Given the description of an element on the screen output the (x, y) to click on. 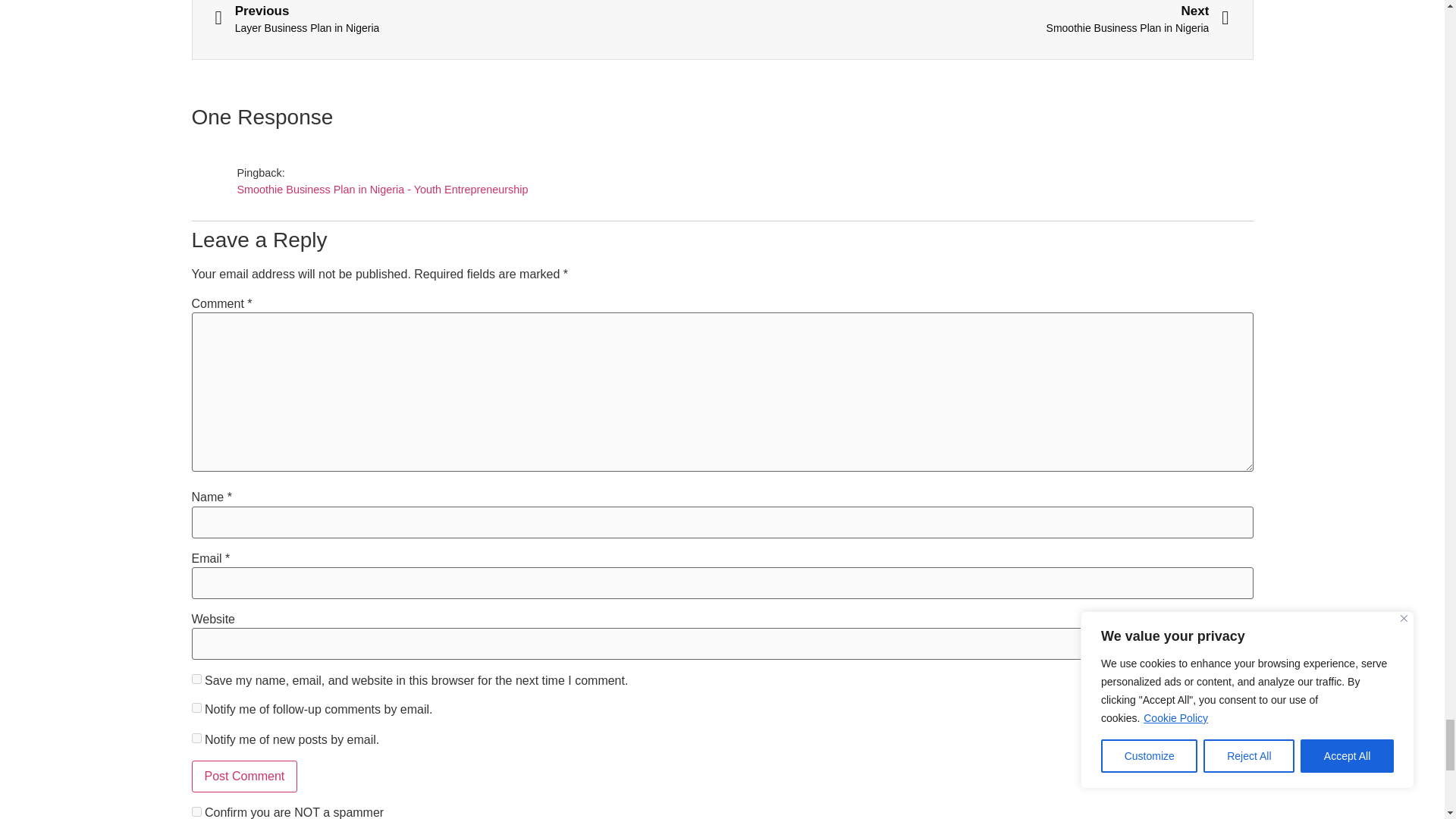
on (195, 811)
Post Comment (243, 776)
yes (195, 678)
subscribe (195, 737)
subscribe (195, 707)
